Given the description of an element on the screen output the (x, y) to click on. 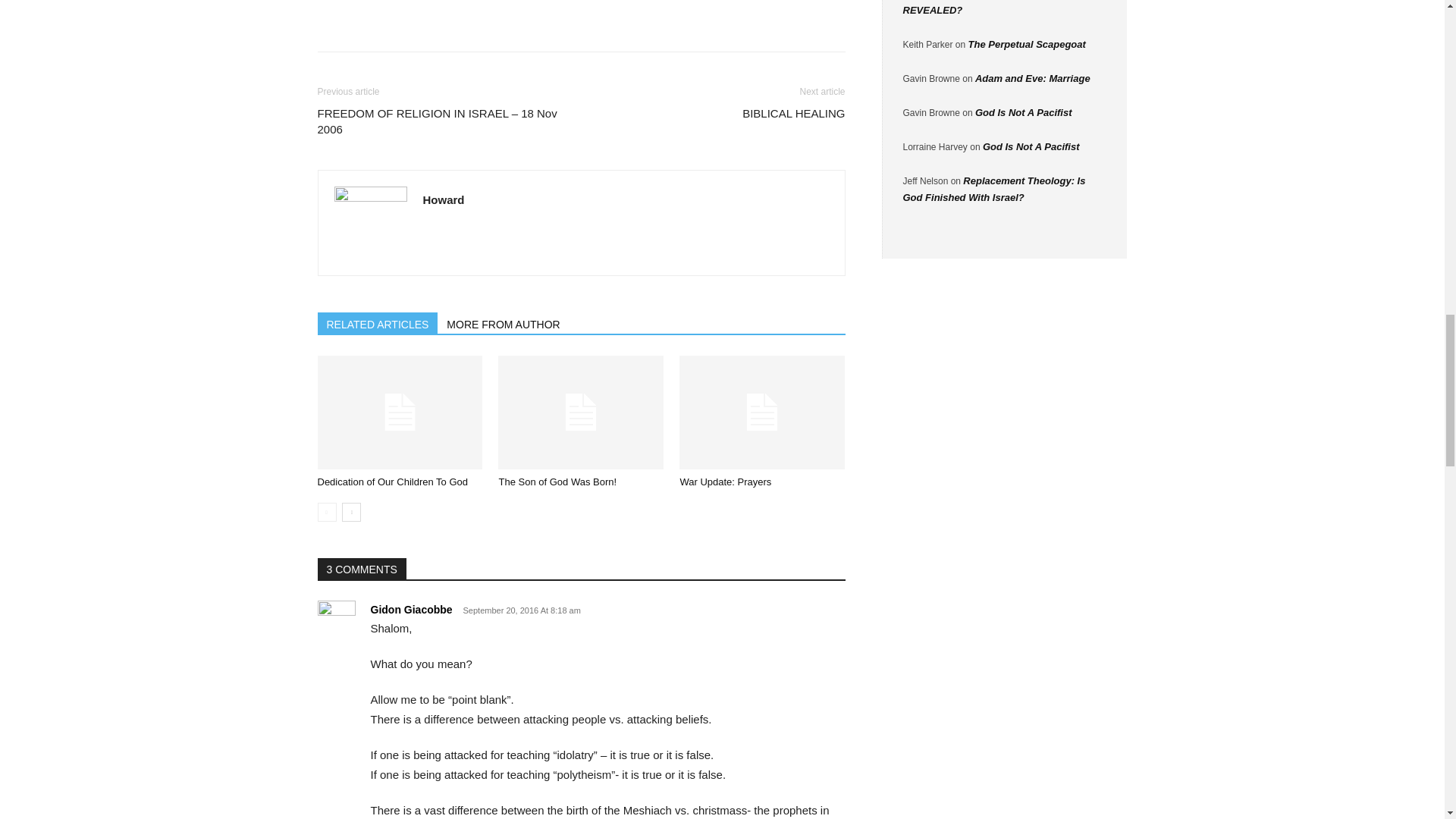
The Son of God Was Born! (580, 412)
Dedication of Our Children To God (392, 481)
Dedication of Our Children To God (399, 412)
